Given the description of an element on the screen output the (x, y) to click on. 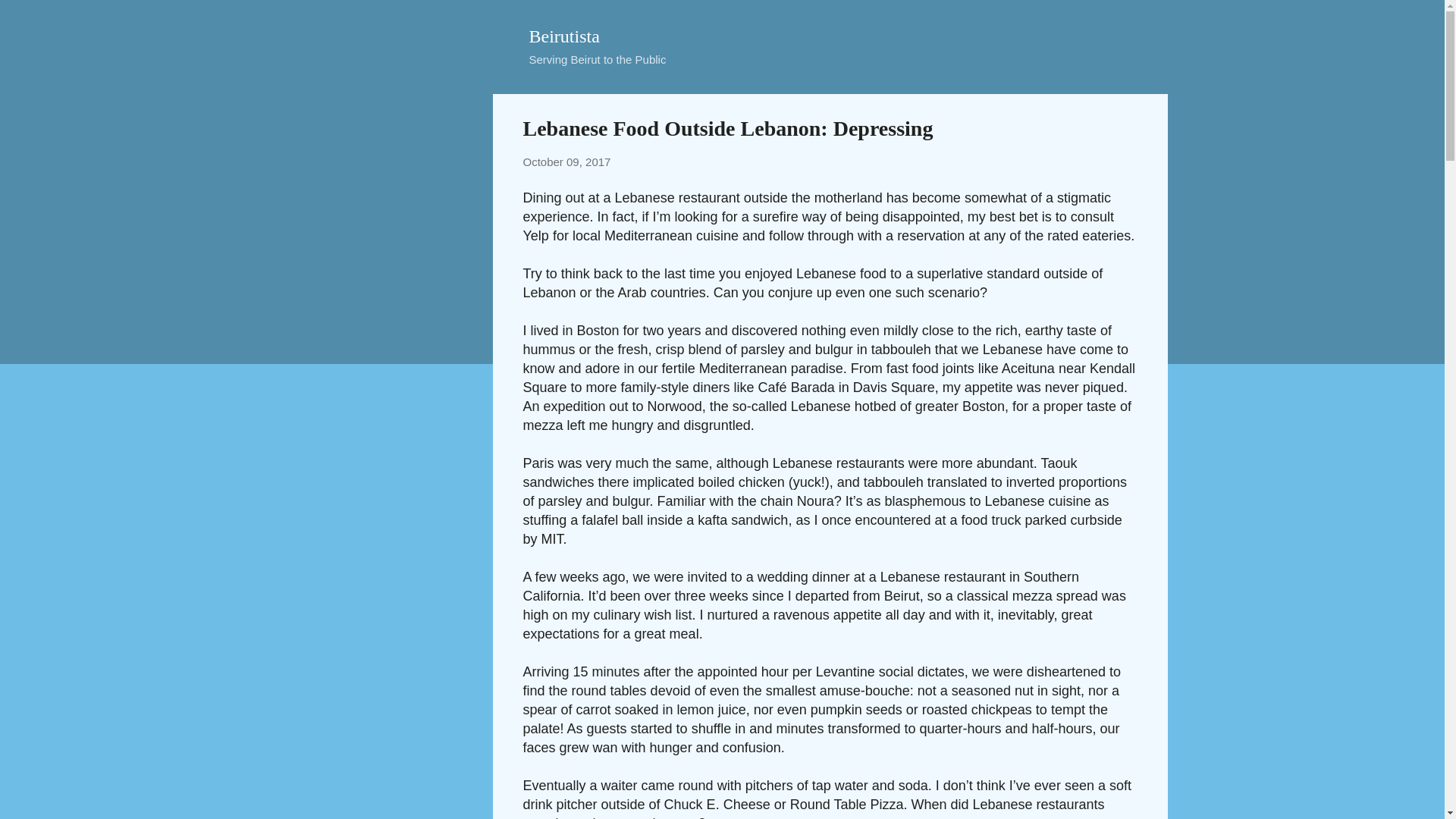
permanent link (566, 161)
Beirutista (564, 35)
October 09, 2017 (566, 161)
Search (29, 18)
